Given the description of an element on the screen output the (x, y) to click on. 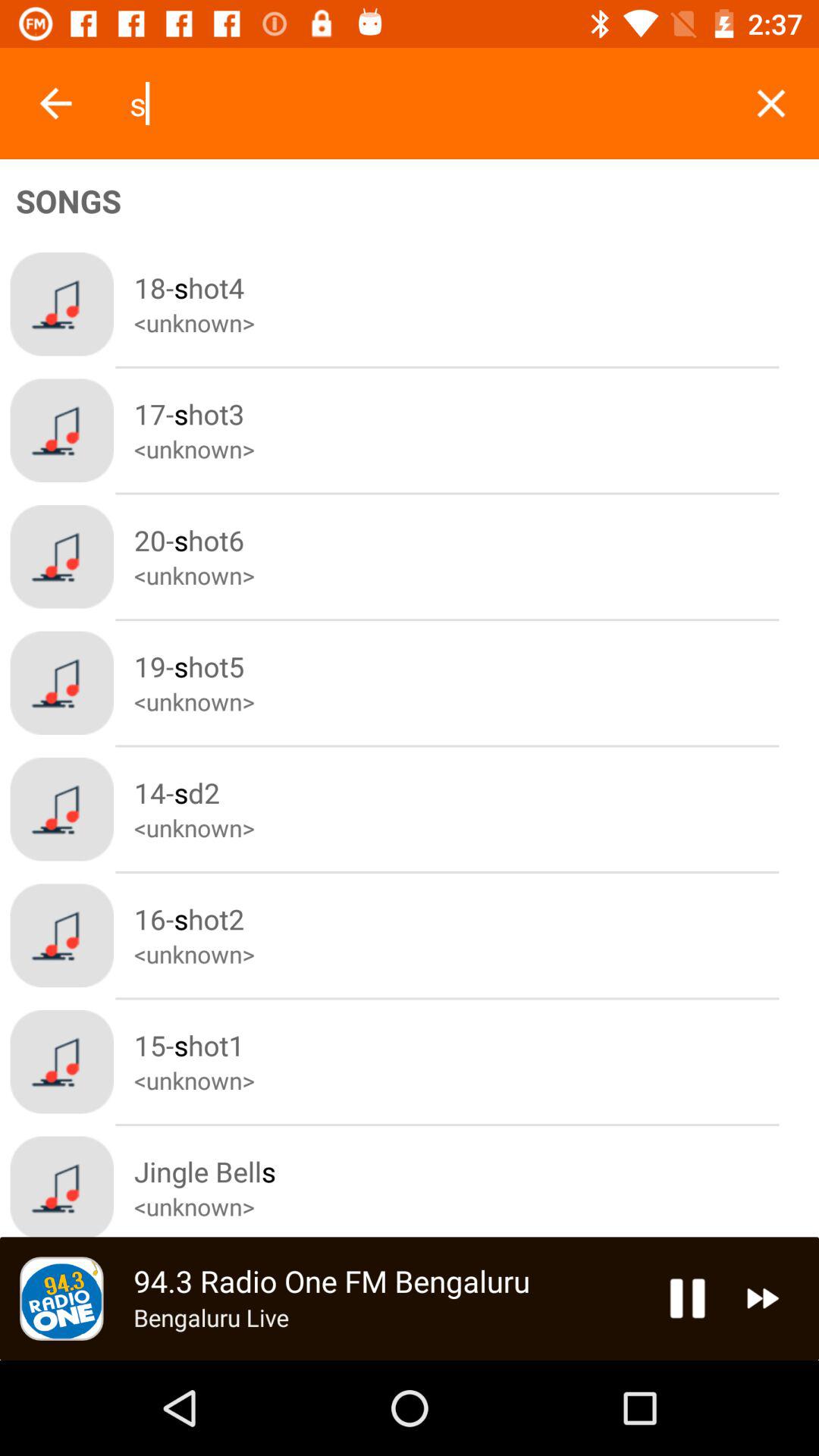
x symbol (771, 103)
